Given the description of an element on the screen output the (x, y) to click on. 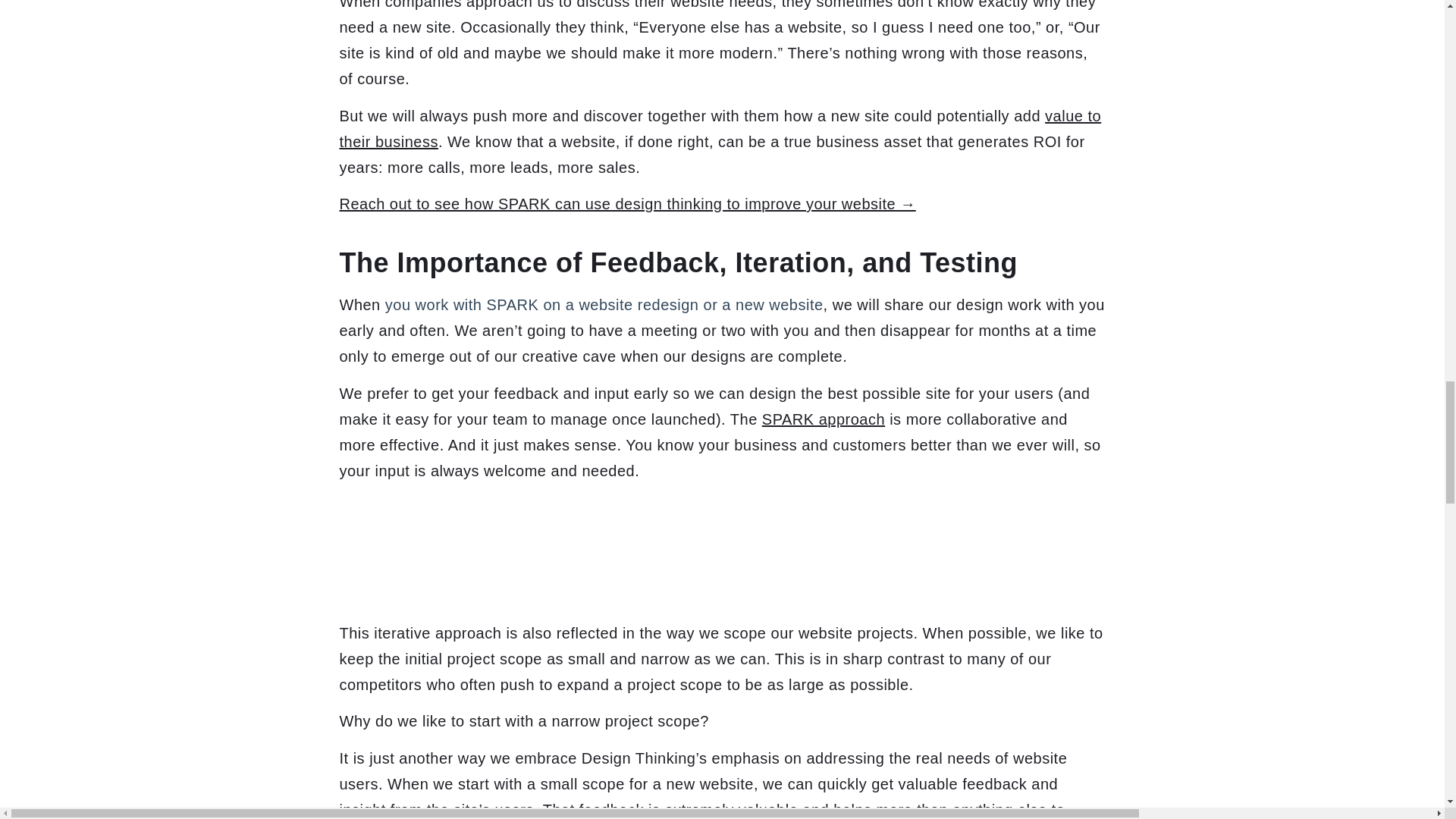
value to their business (720, 128)
SPARK approach (823, 419)
